Given the description of an element on the screen output the (x, y) to click on. 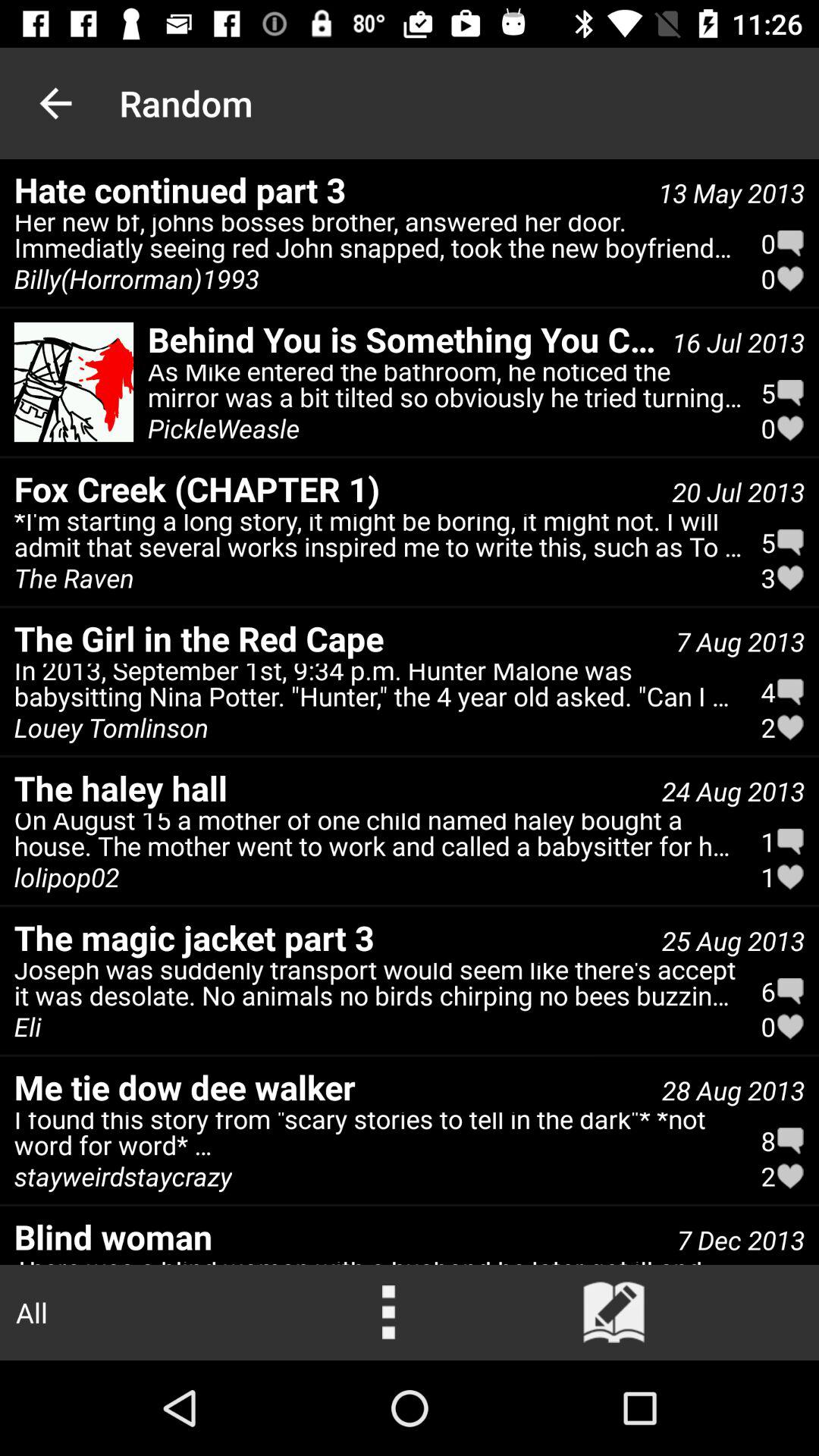
select the item to the left of the 6 icon (378, 988)
